Given the description of an element on the screen output the (x, y) to click on. 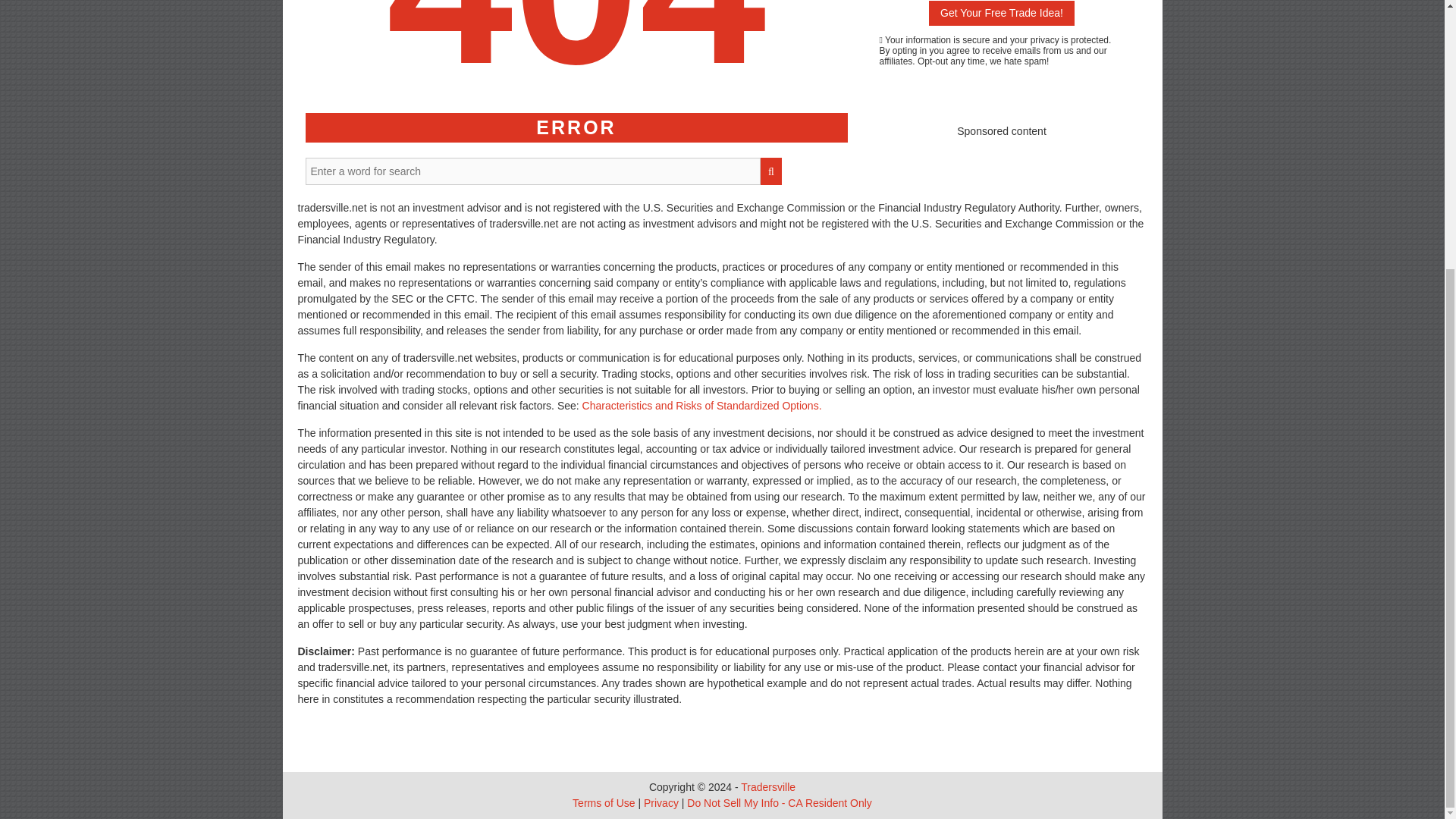
Characteristics and Risks of Standardized Options. (702, 405)
Terms of Use (603, 802)
Tradersville (767, 787)
Do Not Sell My Info - CA Resident Only (779, 802)
Get Your Free Trade Idea! (1001, 12)
Privacy (660, 802)
